Given the description of an element on the screen output the (x, y) to click on. 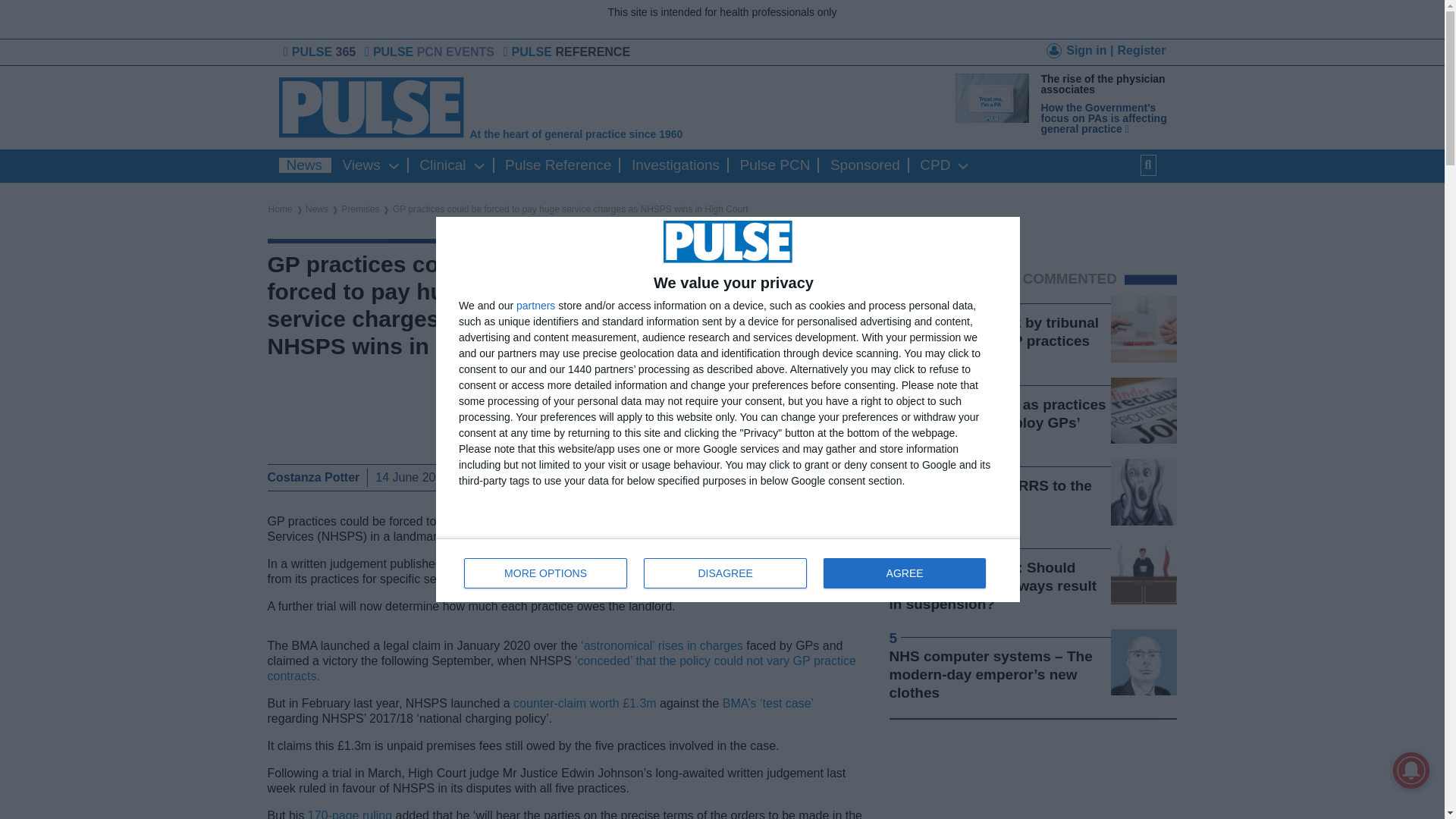
MORE OPTIONS (545, 572)
Clinical (442, 165)
News (304, 165)
Darzi could send ARRS to the dogs (989, 494)
Investigations (675, 165)
PULSE PCN EVENTS (431, 51)
Views (360, 165)
Sign in (1079, 52)
Register (1141, 50)
Sponsored (864, 165)
PULSE 365 (320, 51)
Pulse Reference (557, 165)
DISAGREE (724, 572)
